Given the description of an element on the screen output the (x, y) to click on. 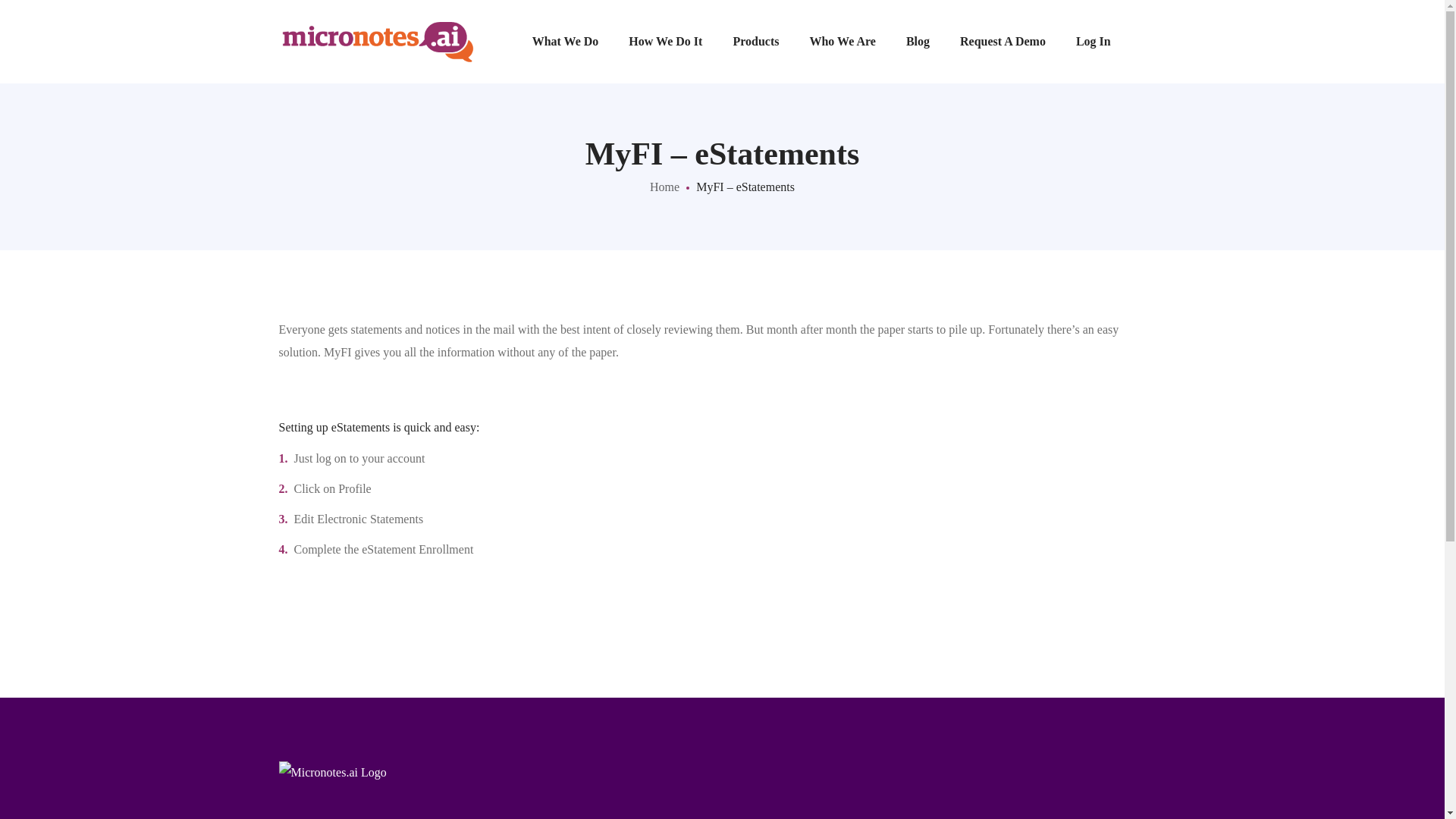
Request A Demo (1002, 41)
What We Do (565, 41)
Who We Are (841, 41)
Products (755, 41)
Home (664, 186)
How We Do It (664, 41)
